Given the description of an element on the screen output the (x, y) to click on. 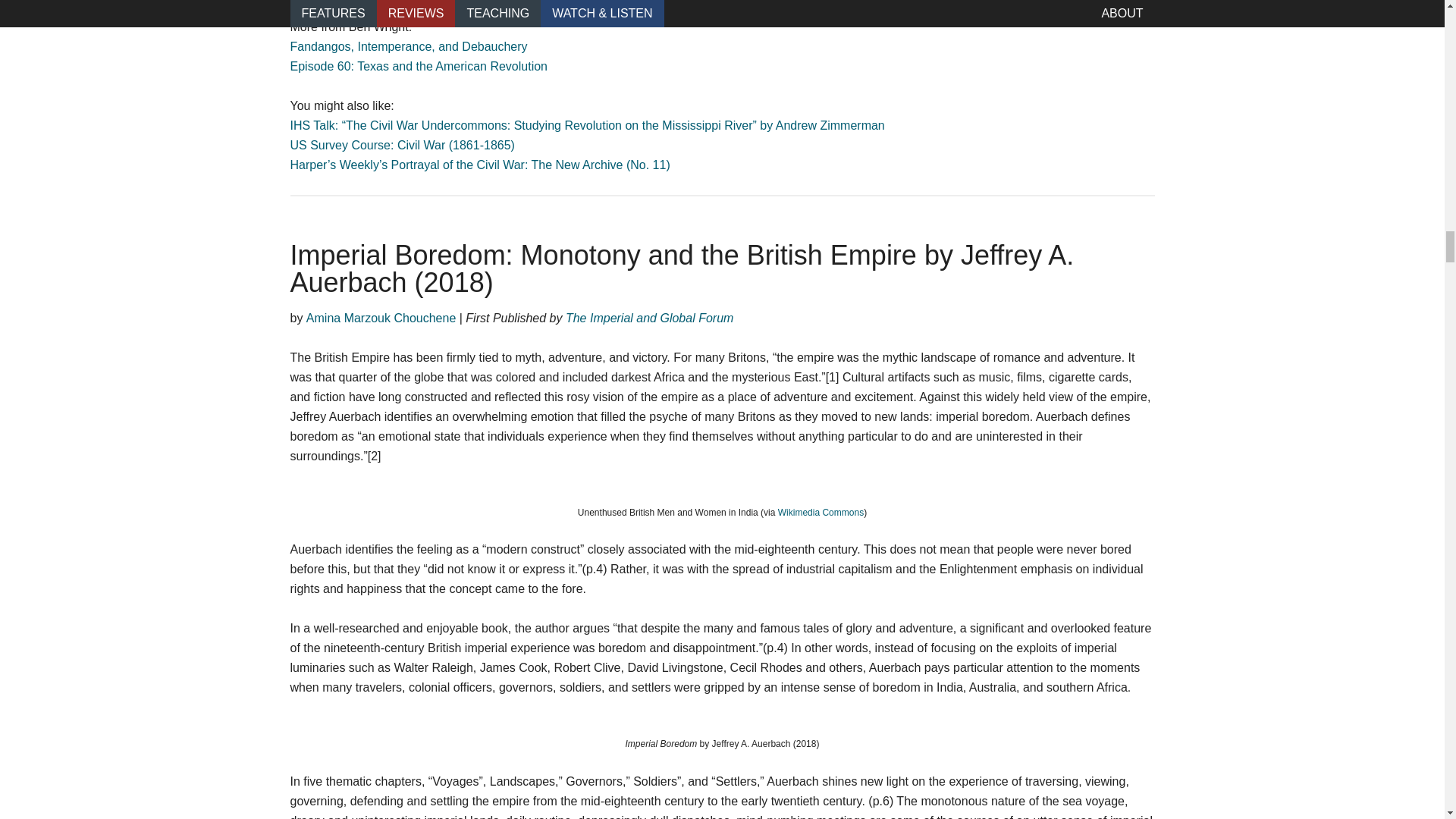
Episode 60: Texas and the American Revolution (418, 65)
Fandangos, Intemperance, and Debauchery (408, 46)
